Given the description of an element on the screen output the (x, y) to click on. 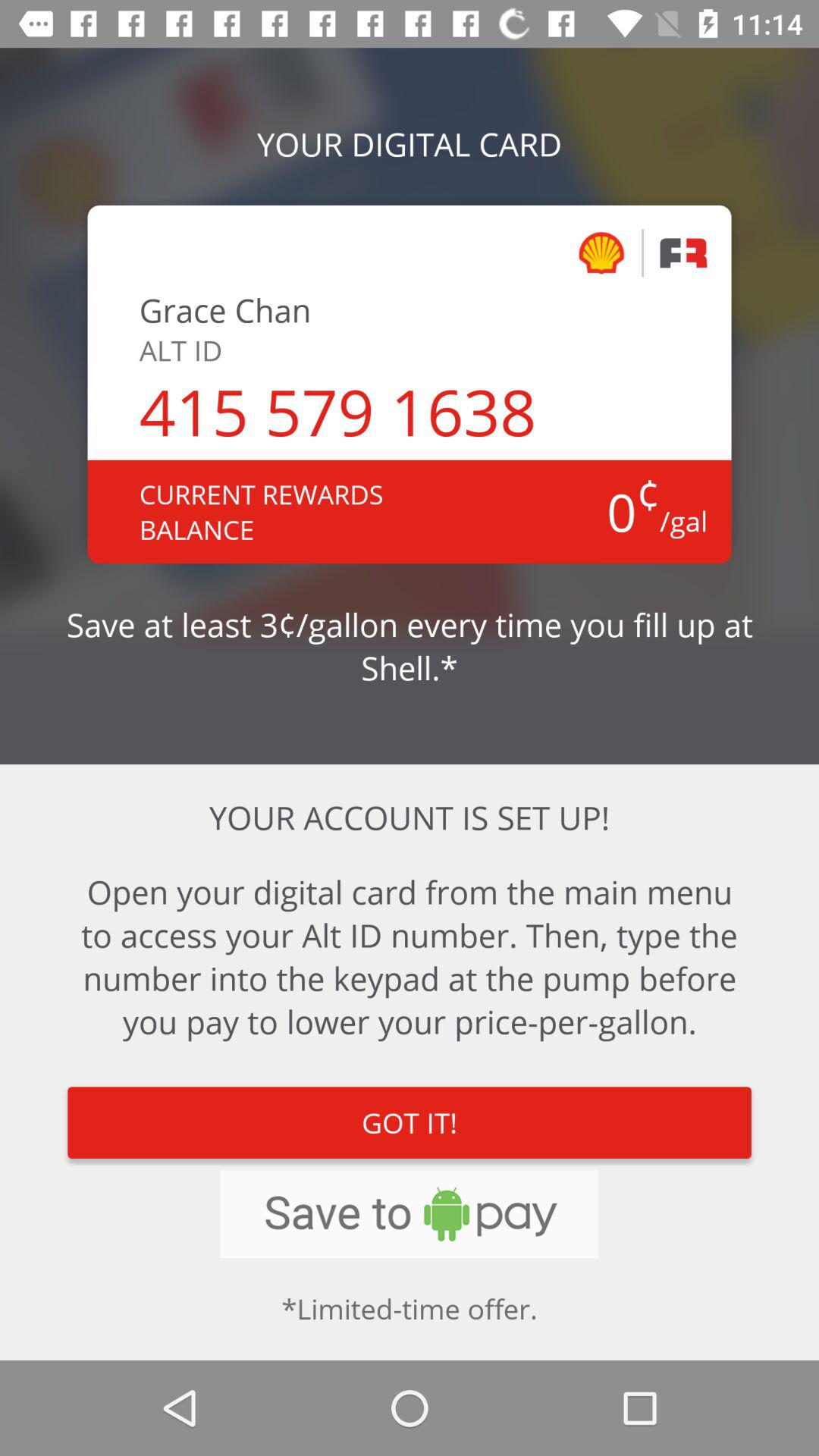
jump until the got it! (409, 1122)
